Given the description of an element on the screen output the (x, y) to click on. 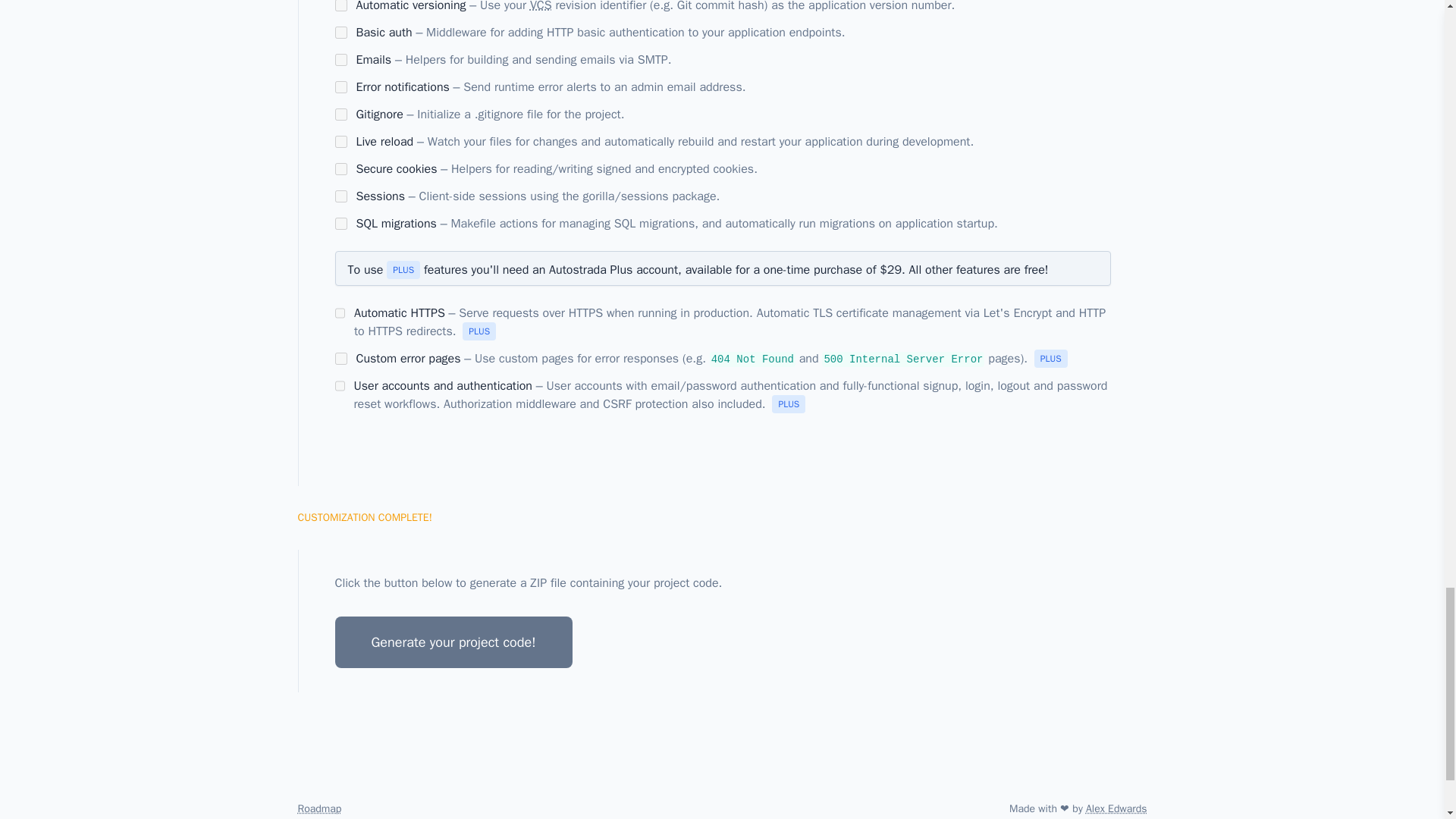
basicauth (340, 32)
livereload (340, 141)
Generate your project code! (453, 642)
notifications (340, 87)
Alex Edwards (1116, 808)
Roadmap (335, 808)
customerrors (340, 358)
cookies (340, 168)
migrations (340, 223)
git (340, 114)
